Given the description of an element on the screen output the (x, y) to click on. 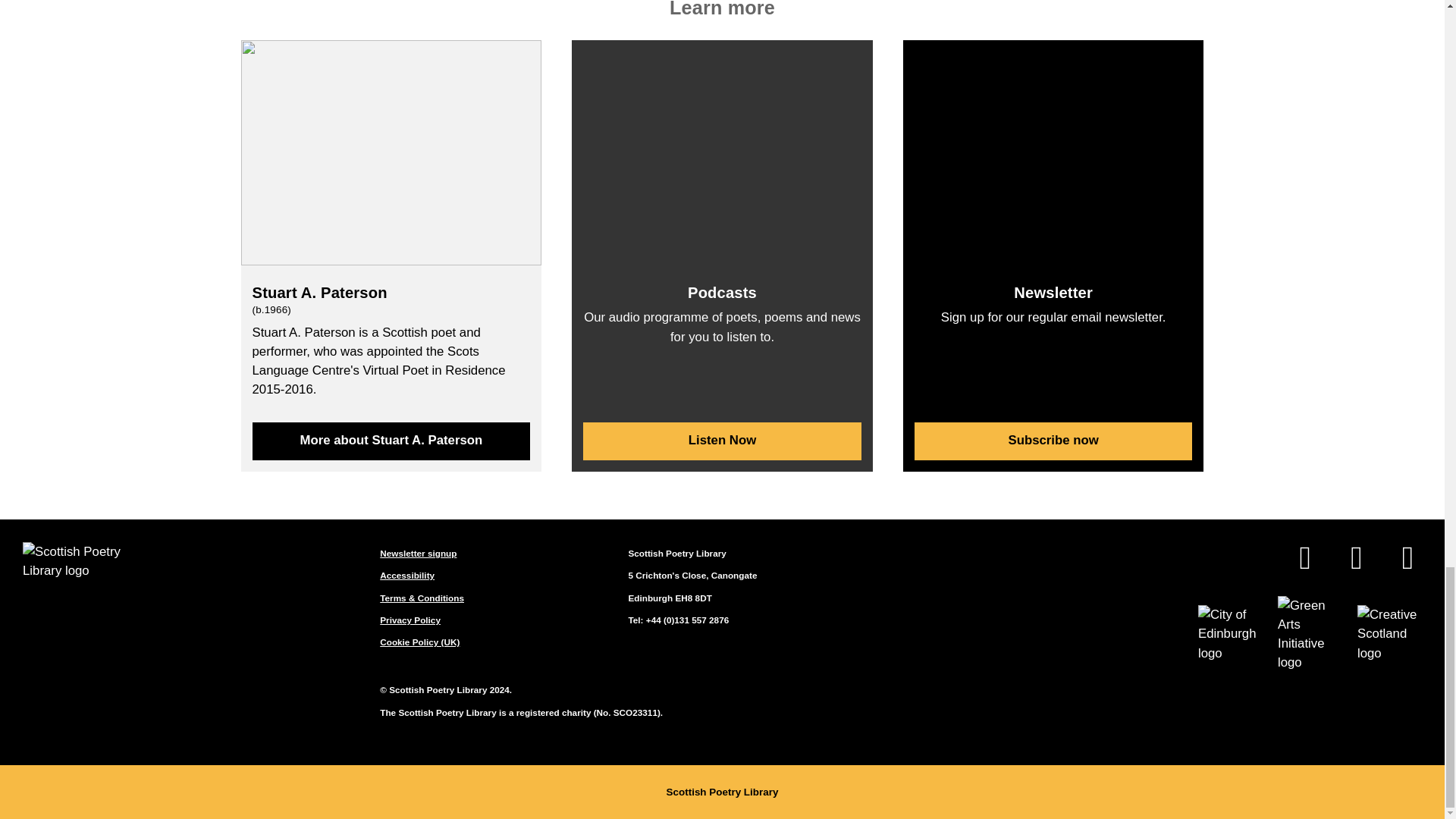
Scottish Poetry Library logo (79, 560)
Scottish Poetry Library on Facebook (1304, 560)
Scottish Poetry Library on Instagram (1407, 560)
Scottish Poetry Library on Twitter (1355, 560)
